Given the description of an element on the screen output the (x, y) to click on. 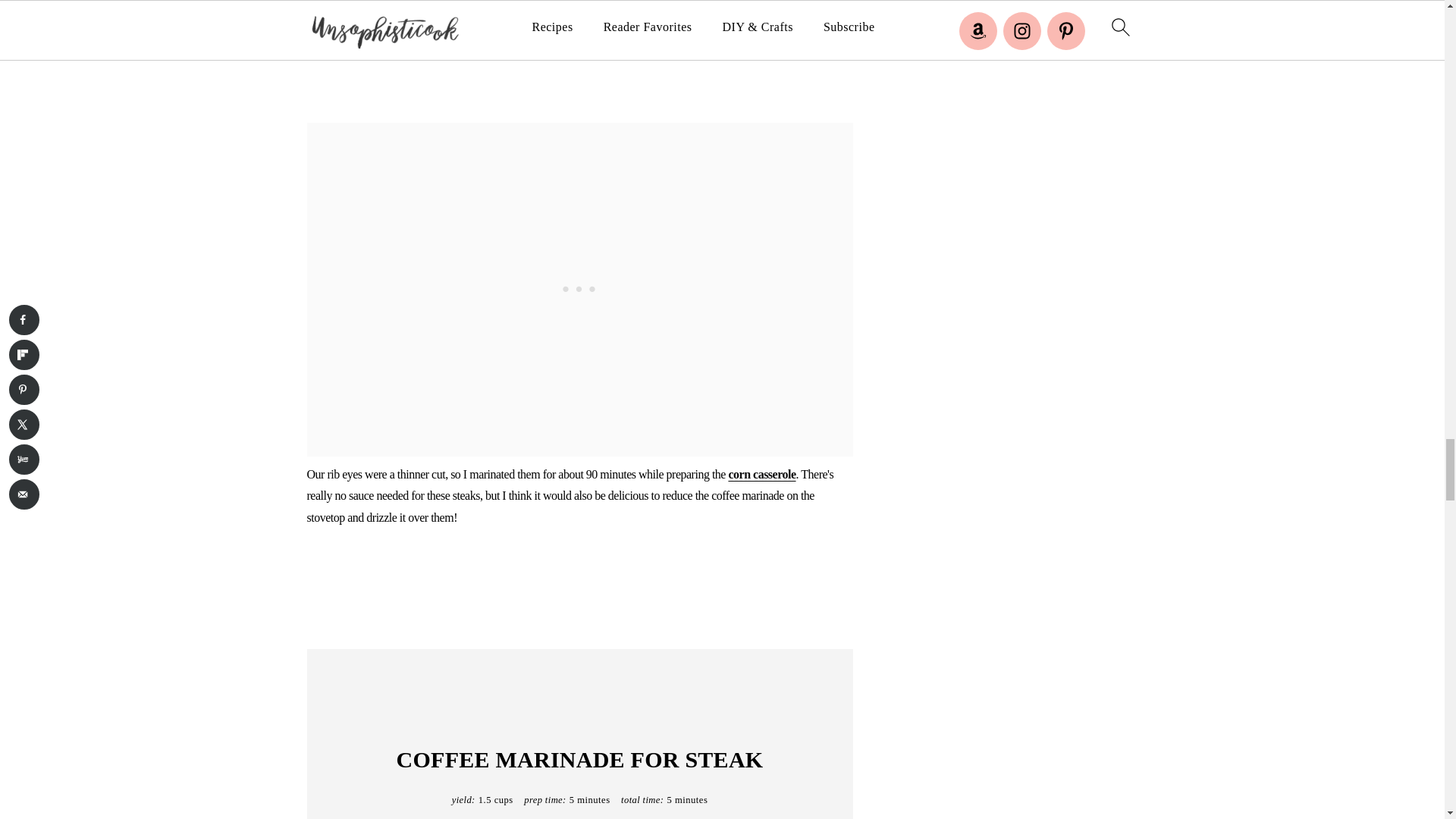
Corn Casserole (761, 473)
corn casserole (761, 473)
